Given the description of an element on the screen output the (x, y) to click on. 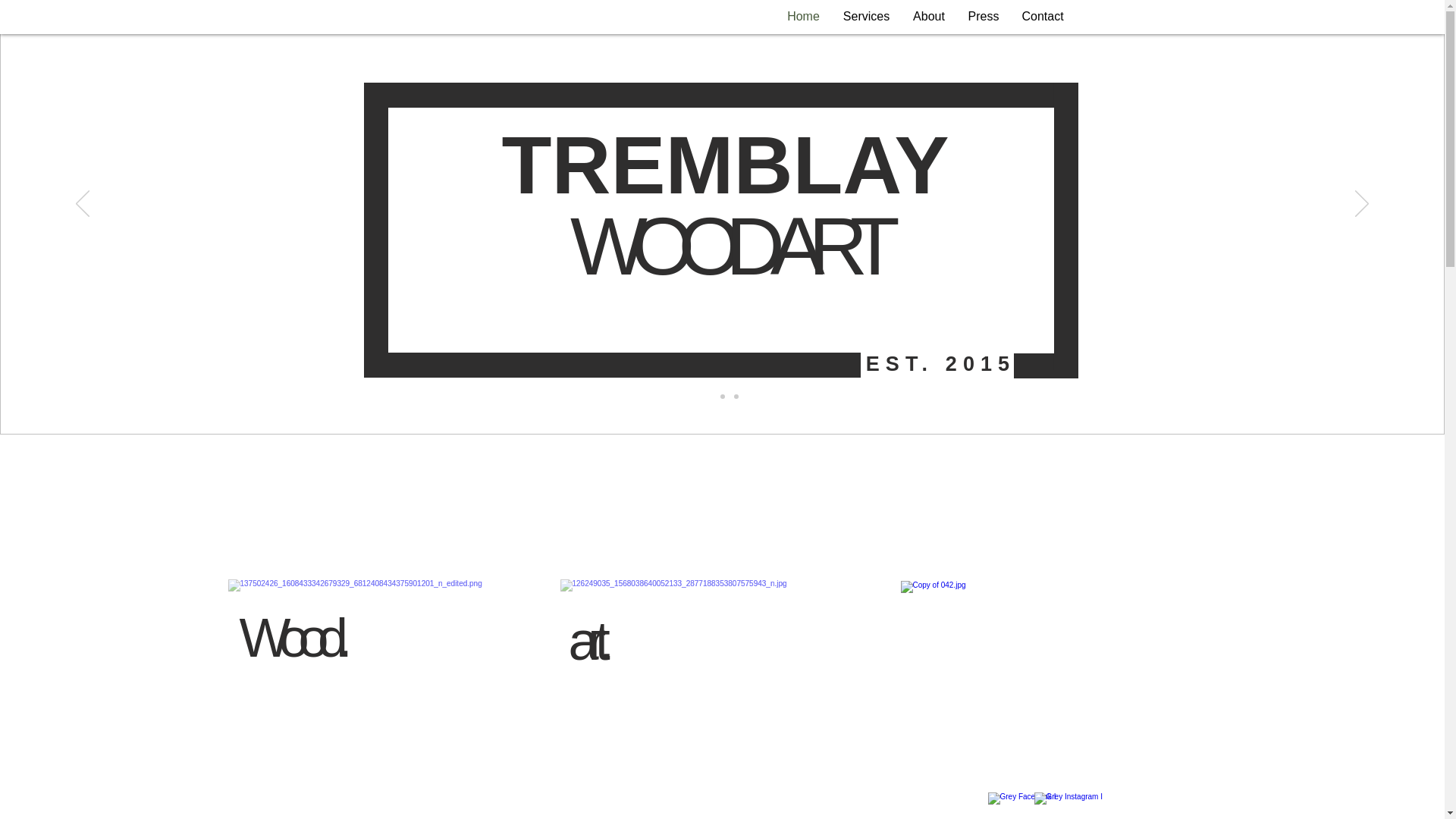
Home (802, 16)
FUNCTIONAL WORK (379, 699)
ARTISTIC WORK (1057, 699)
About (928, 16)
Contact (1042, 16)
Press (983, 16)
Services (866, 16)
